Given the description of an element on the screen output the (x, y) to click on. 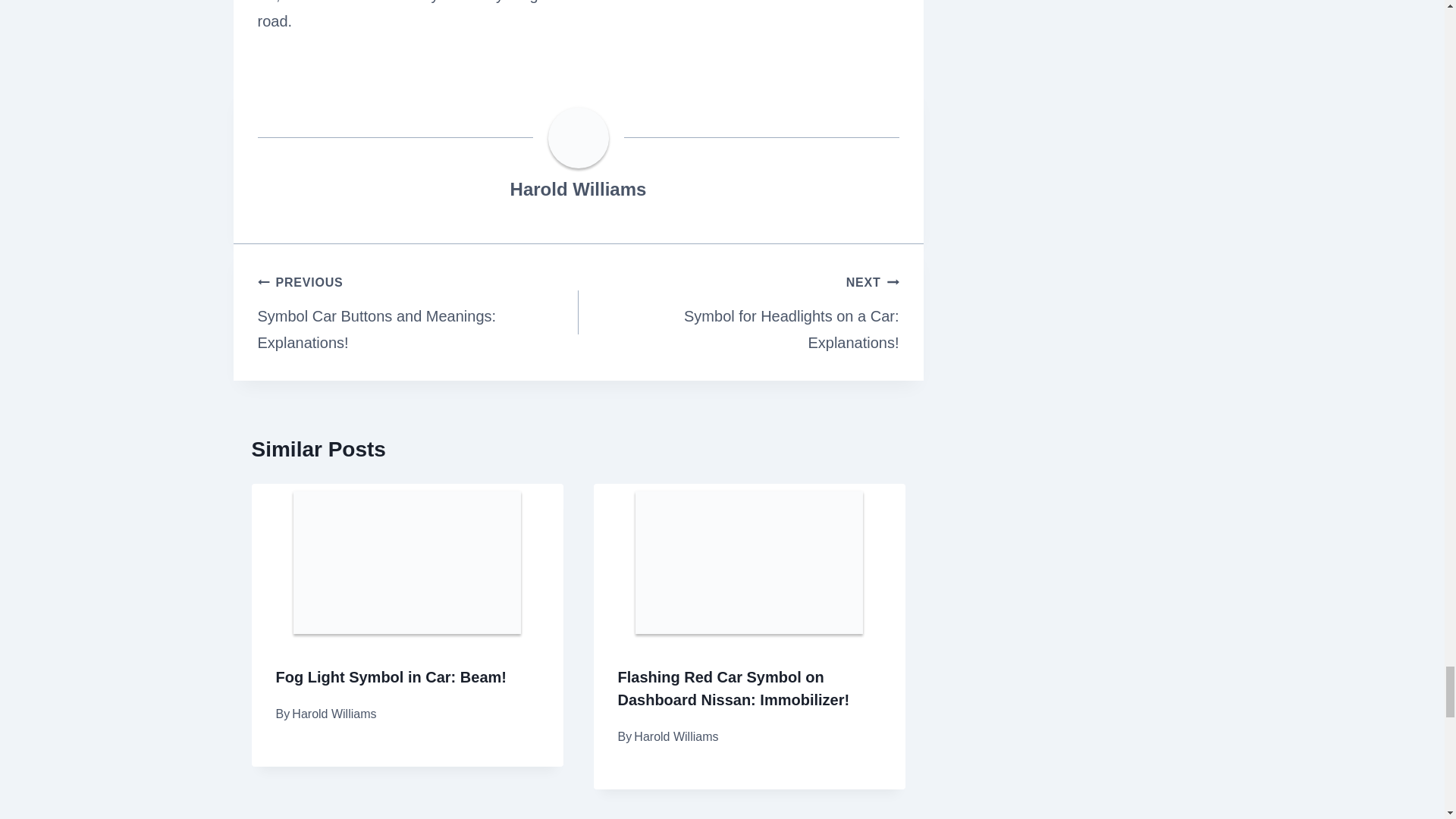
Fog Light Symbol in Car: Beam! (391, 677)
Harold Williams (578, 189)
Posts by Harold Williams (578, 189)
Flashing Red Car Symbol on Dashboard Nissan: Immobilizer! (738, 312)
